Given the description of an element on the screen output the (x, y) to click on. 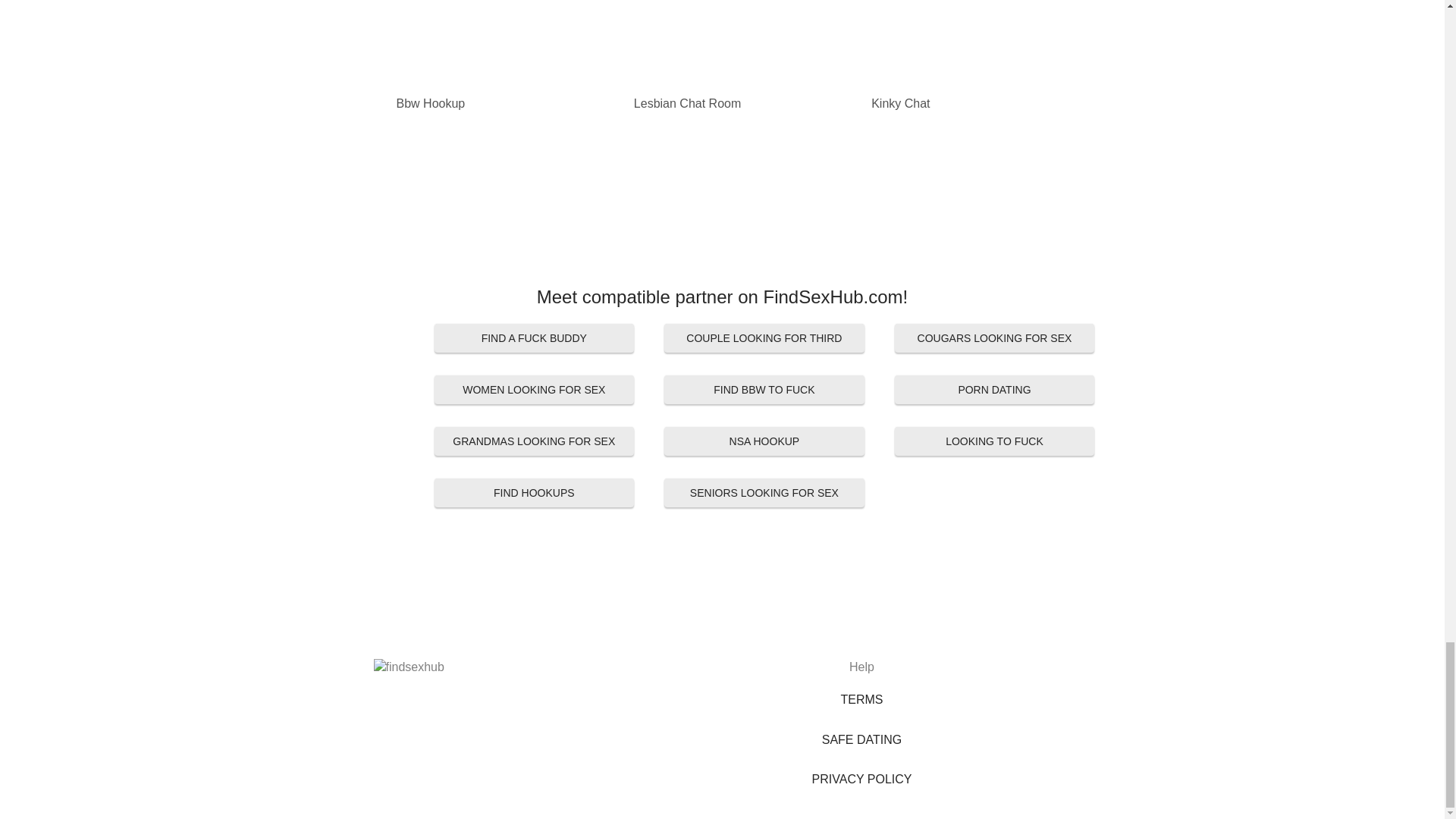
COUPLE LOOKING FOR THIRD (763, 337)
LOOKING TO FUCK (994, 440)
NSA Hookup (763, 440)
Couple Looking for Third (763, 337)
FIND A FUCK BUDDY (533, 337)
Kinky Chat (959, 103)
COUGARS LOOKING FOR SEX (994, 337)
FIND HOOKUPS (533, 492)
PRIVACY POLICY (861, 779)
Find BBW to Fuck (763, 389)
Women Looking for Sex (533, 389)
Lesbian Chat Room (722, 103)
Seniors Looking for Sex (763, 492)
Porn Dating (994, 389)
Looking to Fuck (994, 440)
